Given the description of an element on the screen output the (x, y) to click on. 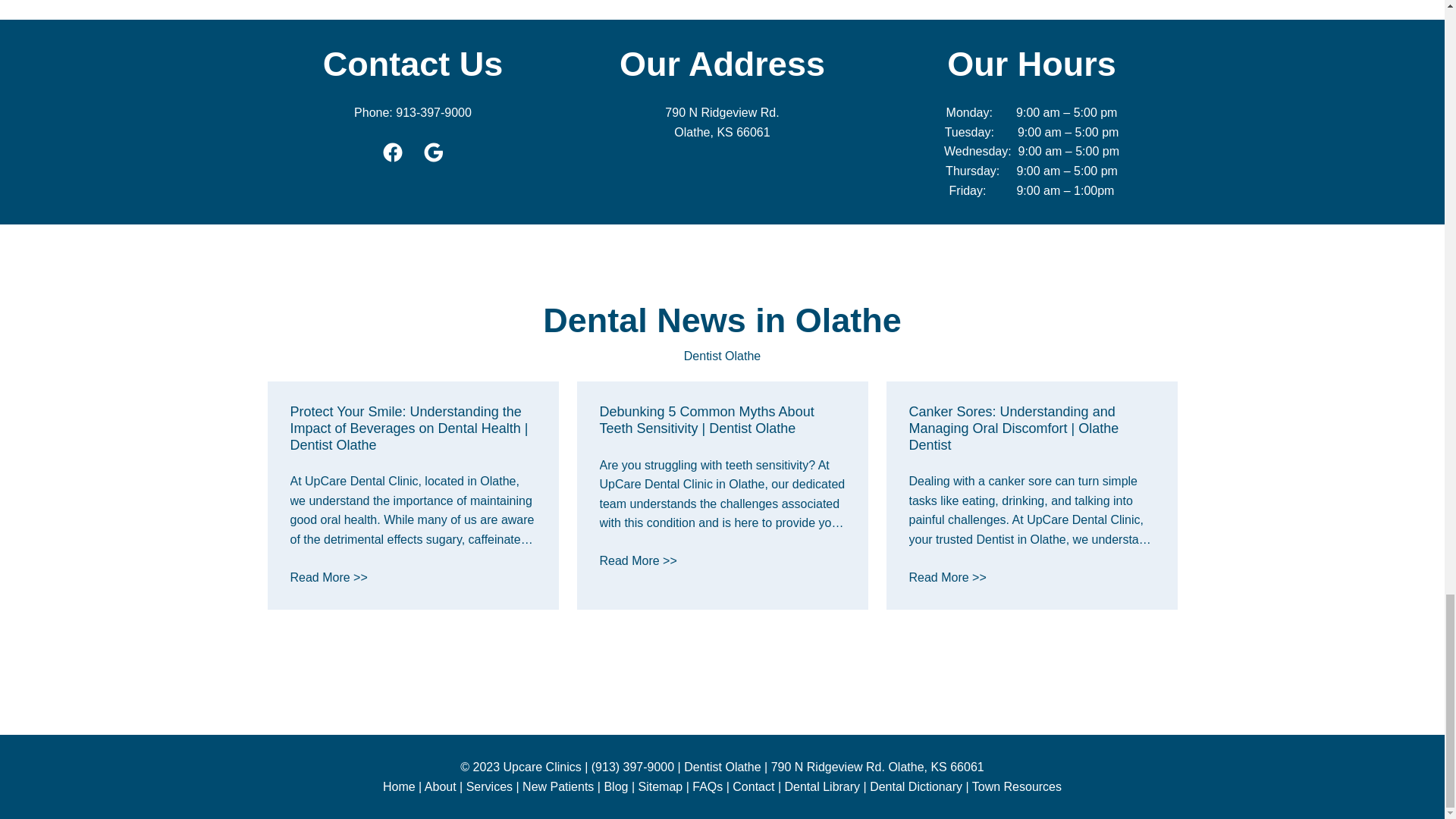
Facebook (391, 151)
Google (721, 122)
913-397-9000 (433, 151)
